Given the description of an element on the screen output the (x, y) to click on. 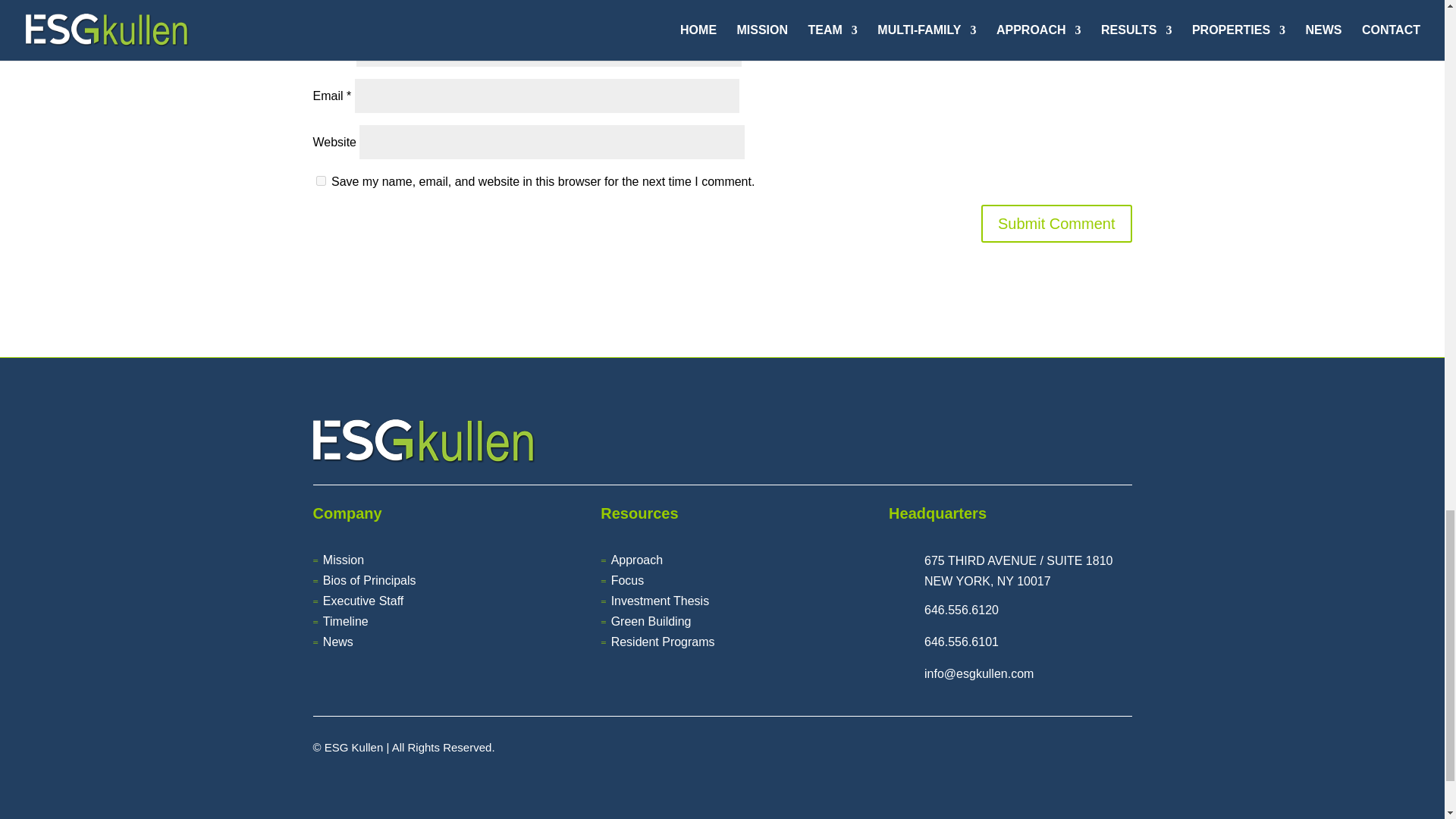
Submit Comment (1056, 223)
logo-esg (423, 440)
yes (319, 180)
